Given the description of an element on the screen output the (x, y) to click on. 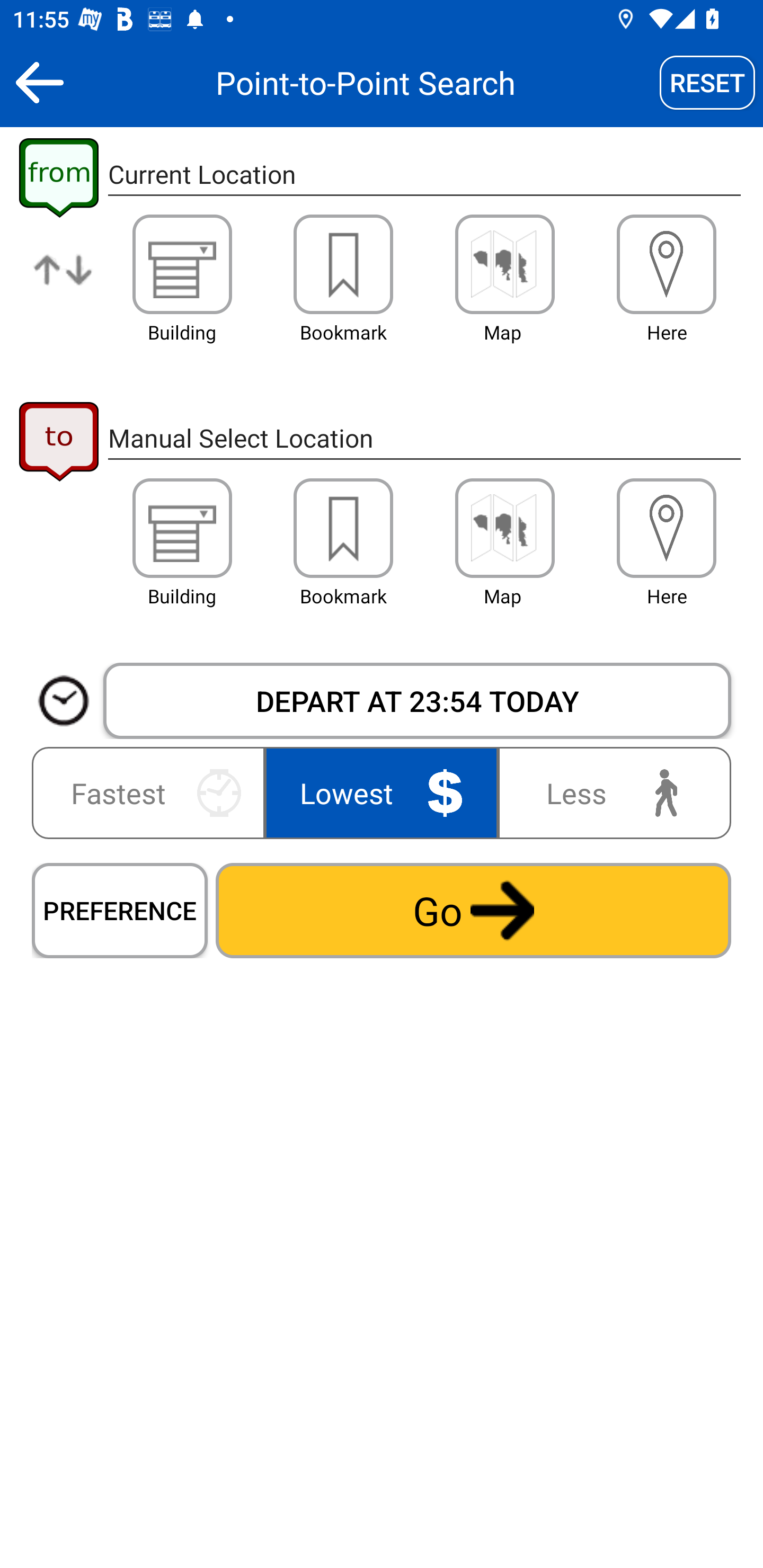
Back (39, 82)
RESET Reset (707, 81)
Current Location (423, 174)
Building (181, 263)
Bookmarks (342, 263)
Select location on map (504, 263)
Here (666, 263)
Swap origin and destination (63, 284)
Manual Select Location (423, 437)
Building (181, 528)
Bookmarks (342, 528)
Select location on map (504, 528)
Here (666, 528)
Lowest selected (381, 792)
Fastest (151, 792)
Less (610, 792)
PREFERENCE Preference (119, 910)
Go (472, 910)
